Given the description of an element on the screen output the (x, y) to click on. 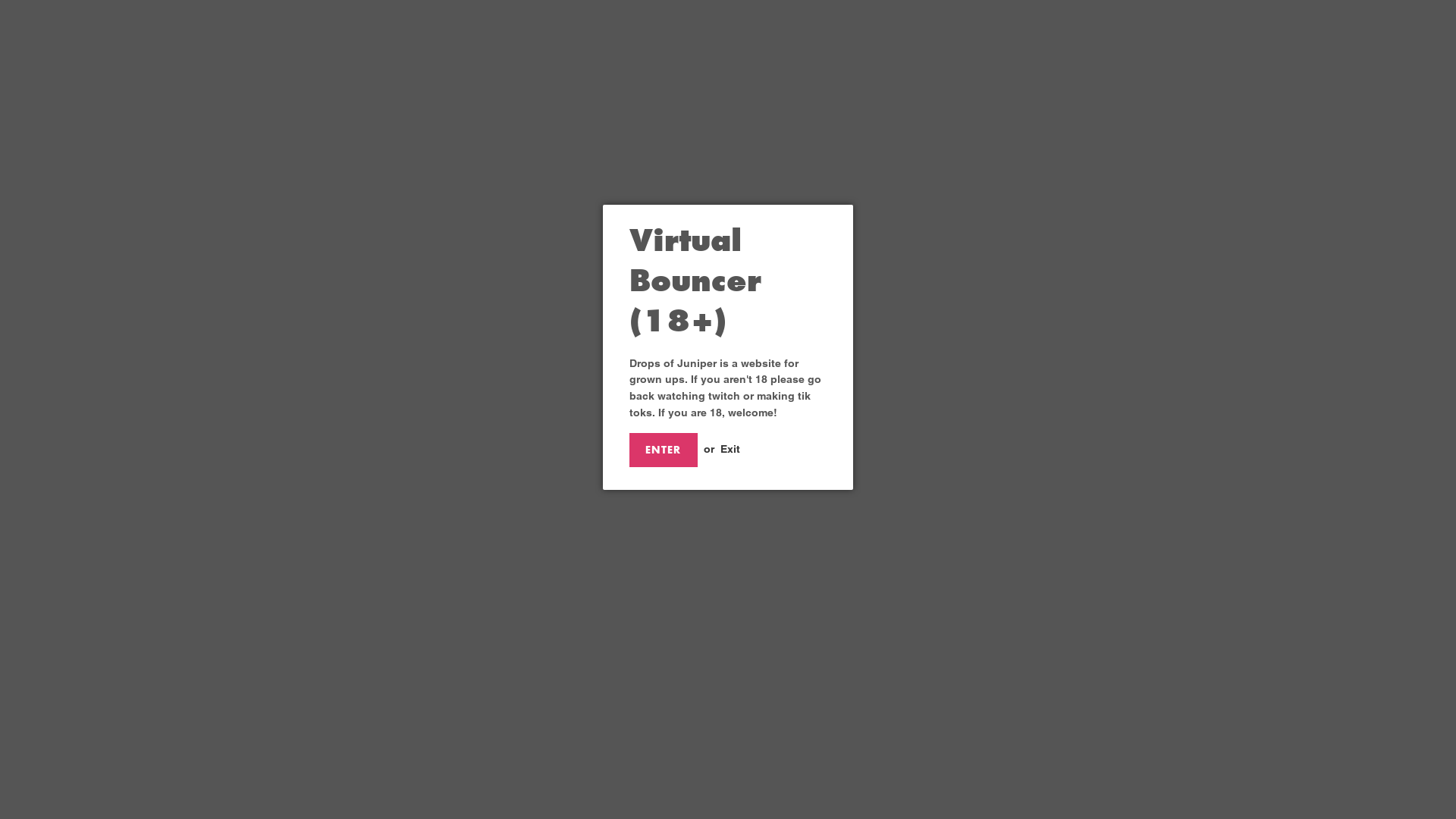
LOG IN Element type: text (1024, 40)
SHIPPING POLICY Element type: text (398, 496)
BUY Element type: text (881, 43)
GIN Element type: text (811, 43)
ABOUT US Element type: text (963, 43)
PRIVACY POLICY Element type: text (395, 535)
CART Element type: text (1088, 40)
Exit Element type: text (730, 448)
ENTER Element type: text (663, 449)
SEARCH Element type: text (1055, 40)
Drops of Juniper Element type: text (1063, 496)
REFUND POLICY Element type: text (395, 515)
buy some gin Element type: text (739, 284)
Drops of Juniper on Instagram Element type: hover (617, 496)
